Given the description of an element on the screen output the (x, y) to click on. 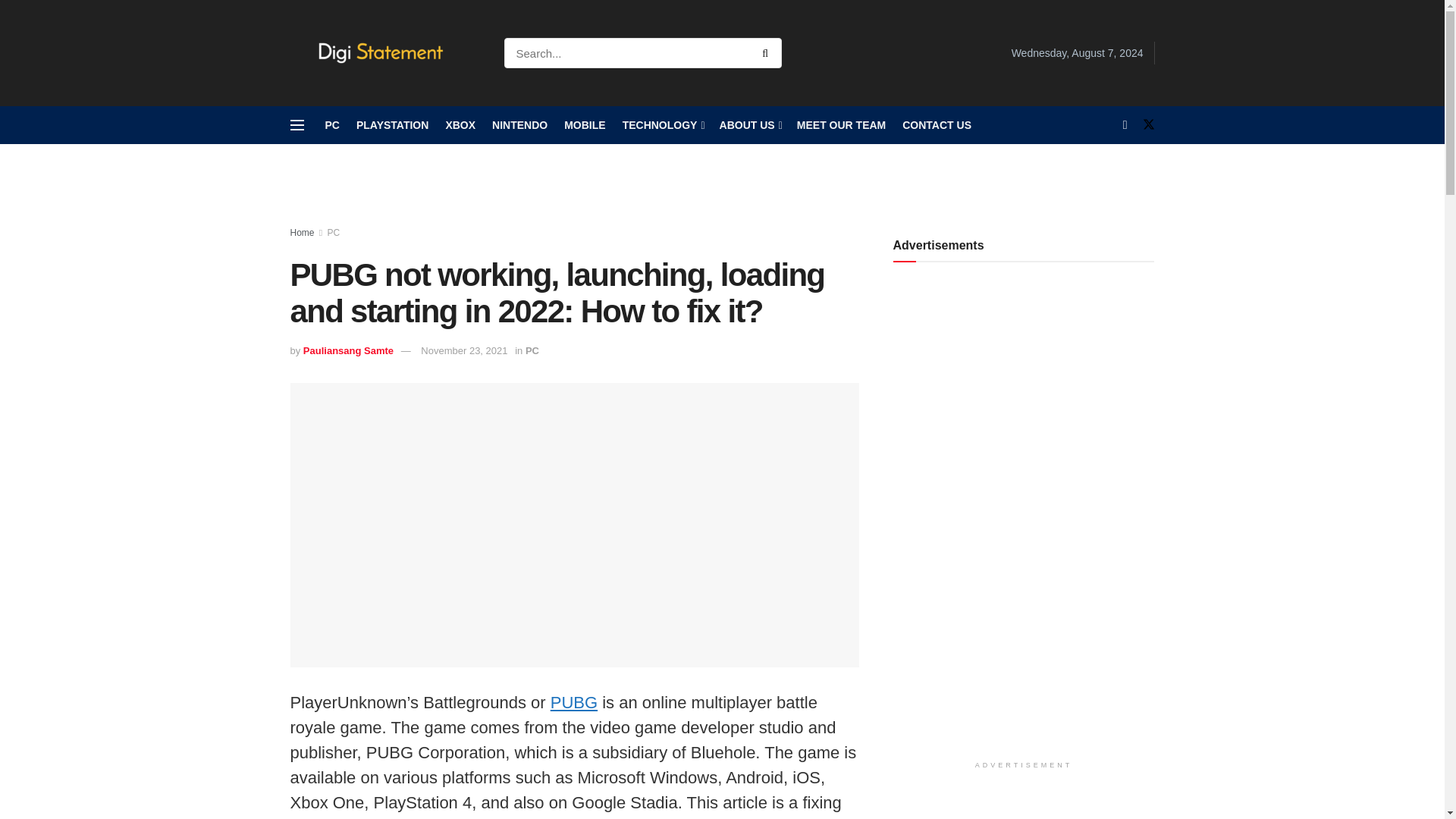
TECHNOLOGY (663, 125)
PLAYSTATION (392, 125)
MEET OUR TEAM (840, 125)
CONTACT US (936, 125)
MOBILE (584, 125)
ABOUT US (749, 125)
NINTENDO (519, 125)
